Given the description of an element on the screen output the (x, y) to click on. 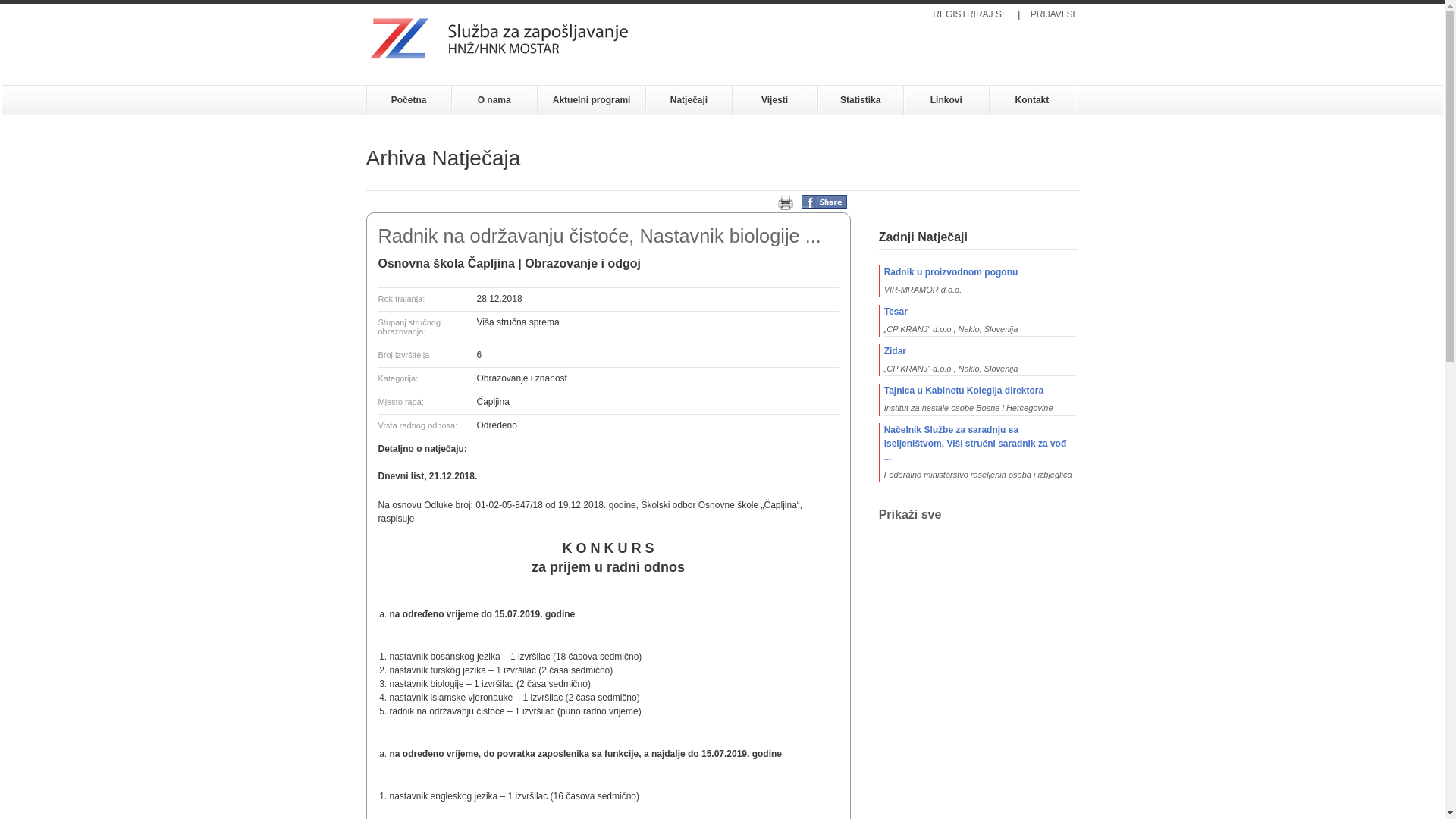
Aktuelni programi Element type: text (591, 99)
Kontakt Element type: text (1032, 99)
Radnik u proizvodnom pogonu
VIR-MRAMOR d.o.o. Element type: text (978, 281)
Linkovi Element type: text (946, 99)
O nama Element type: text (494, 99)
REGISTRIRAJ SE Element type: text (969, 14)
Statistika Element type: text (860, 99)
PRIJAVI SE Element type: text (1054, 14)
Vijesti Element type: text (775, 99)
